Given the description of an element on the screen output the (x, y) to click on. 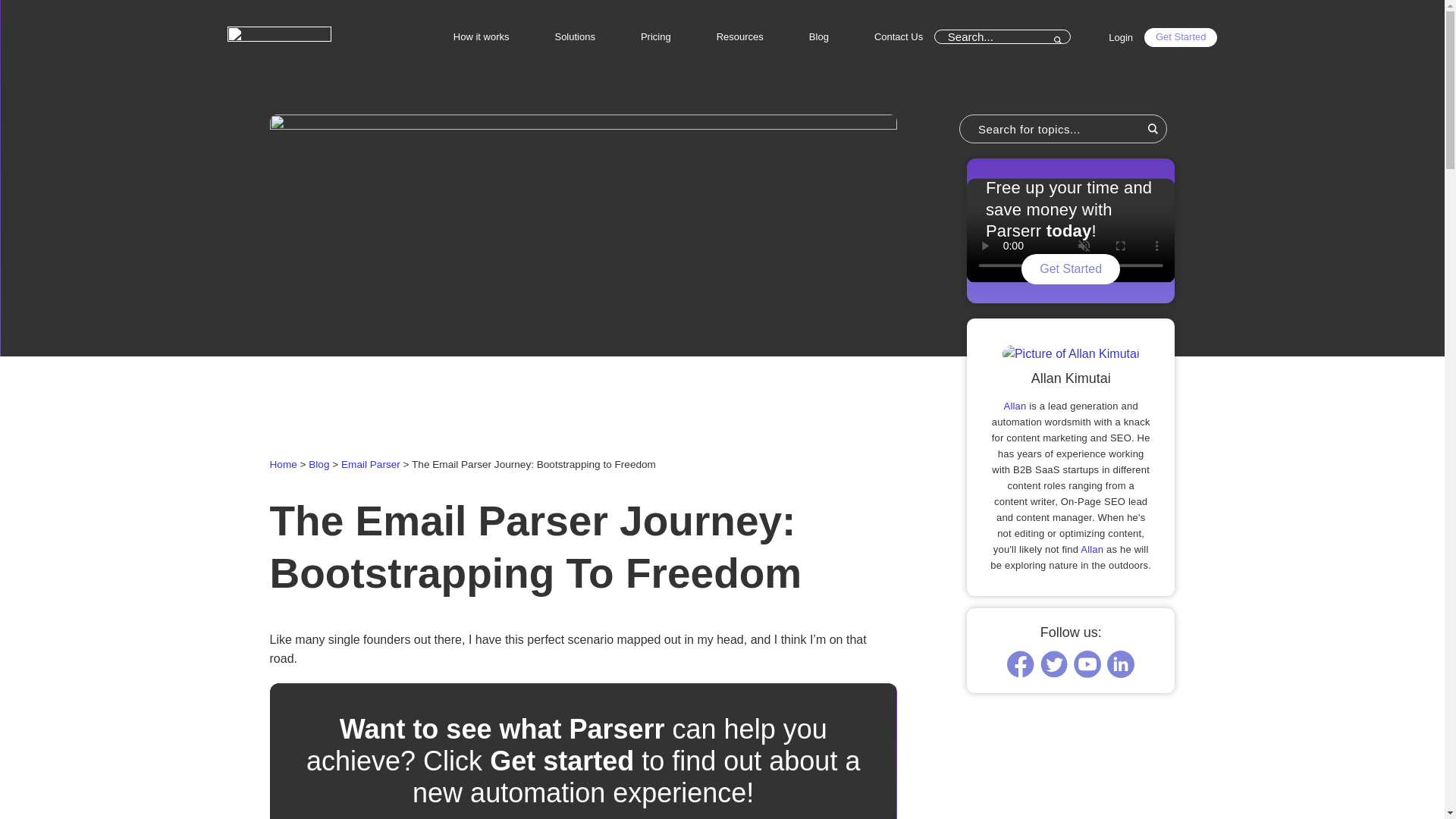
Resources (740, 36)
Pricing (655, 36)
Login (1120, 36)
Blog (818, 36)
Solutions (574, 36)
Home (283, 464)
Get Started (1180, 36)
Email Parser (370, 464)
Contact Us (897, 36)
Blog (318, 464)
